Given the description of an element on the screen output the (x, y) to click on. 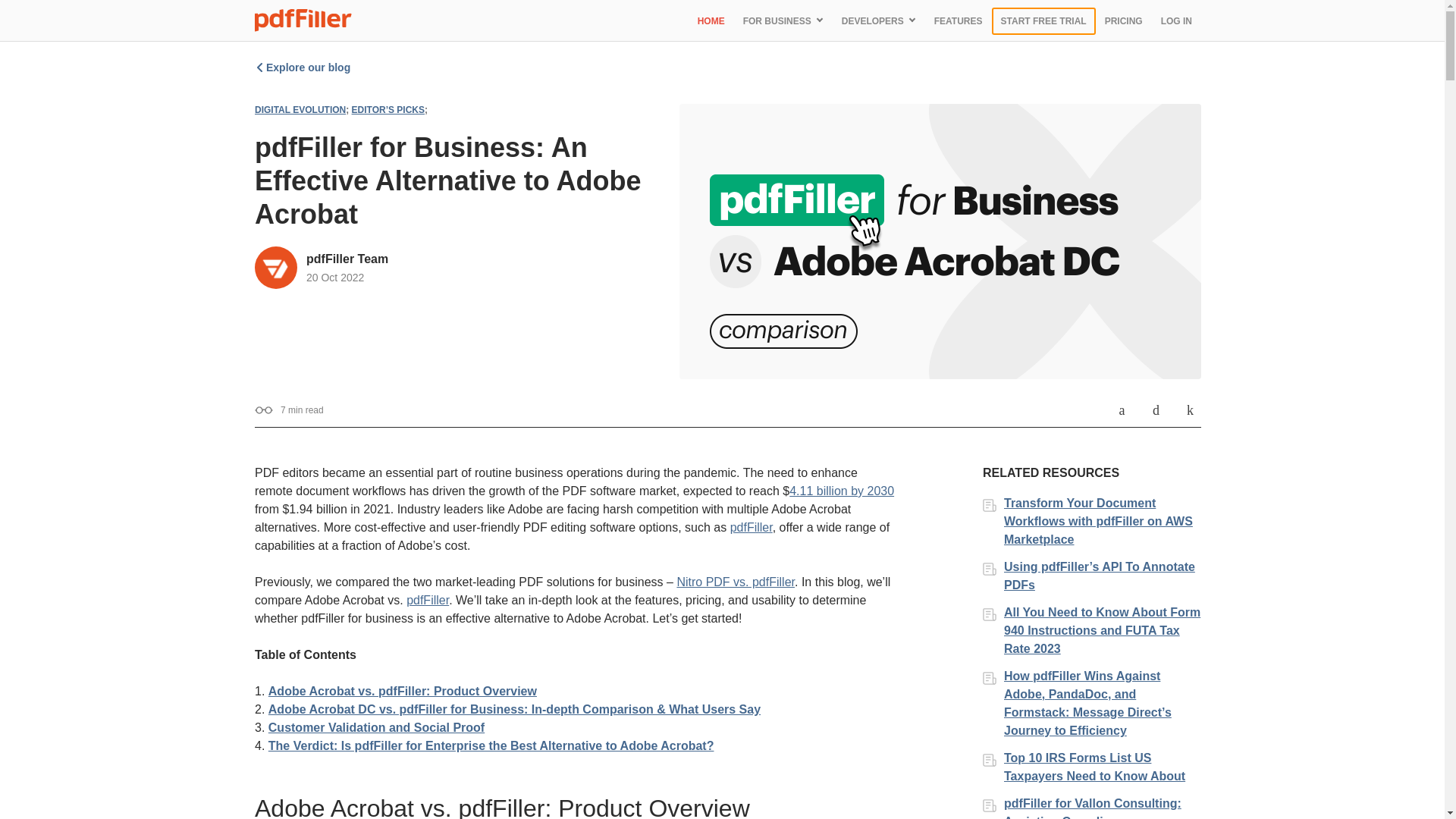
DIGITAL EVOLUTION (300, 109)
PRICING (1123, 20)
Share on LinkedIn (1190, 409)
HOME (710, 20)
DEVELOPERS (878, 20)
Nitro PDF vs. pdfFiller (735, 581)
LOG IN (1176, 20)
FOR BUSINESS (782, 20)
Share on Facebook (1121, 409)
pdfFiller (427, 599)
pdfFiller (751, 526)
Explore our blog (303, 67)
FEATURES (957, 20)
4.11 billion by 2030 (841, 490)
